Given the description of an element on the screen output the (x, y) to click on. 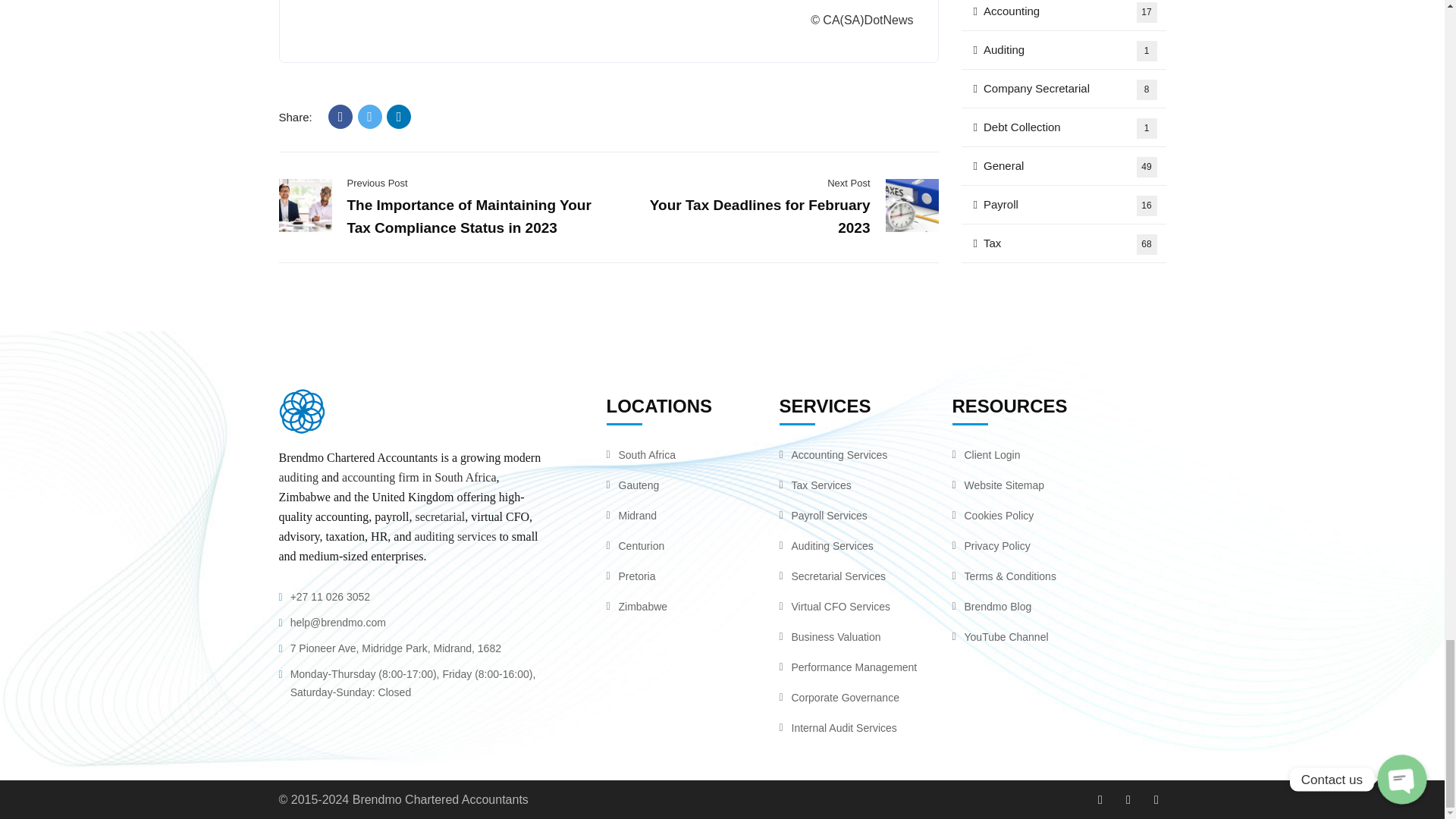
LinkedIn (398, 116)
Twitter (369, 116)
Facebook (340, 116)
